Given the description of an element on the screen output the (x, y) to click on. 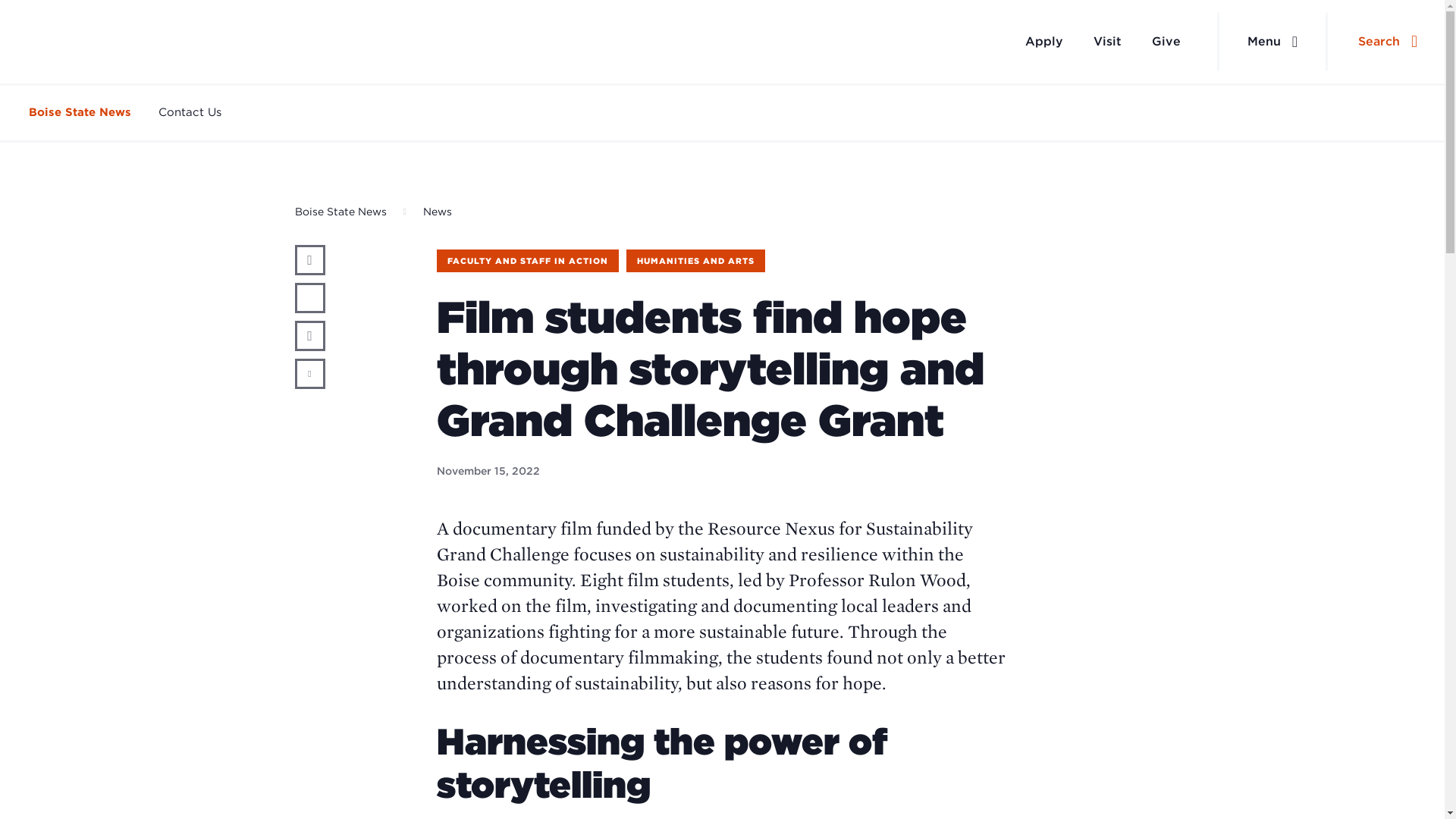
Share on LinkedIn (309, 336)
Menu (1272, 41)
HUMANITIES AND ARTS (695, 260)
News (437, 211)
Share on Twitter (309, 297)
Share on Twitter (309, 297)
Share through Email (309, 373)
Share through Email (309, 373)
Visit (1107, 41)
Boise State News Home (98, 41)
